Given the description of an element on the screen output the (x, y) to click on. 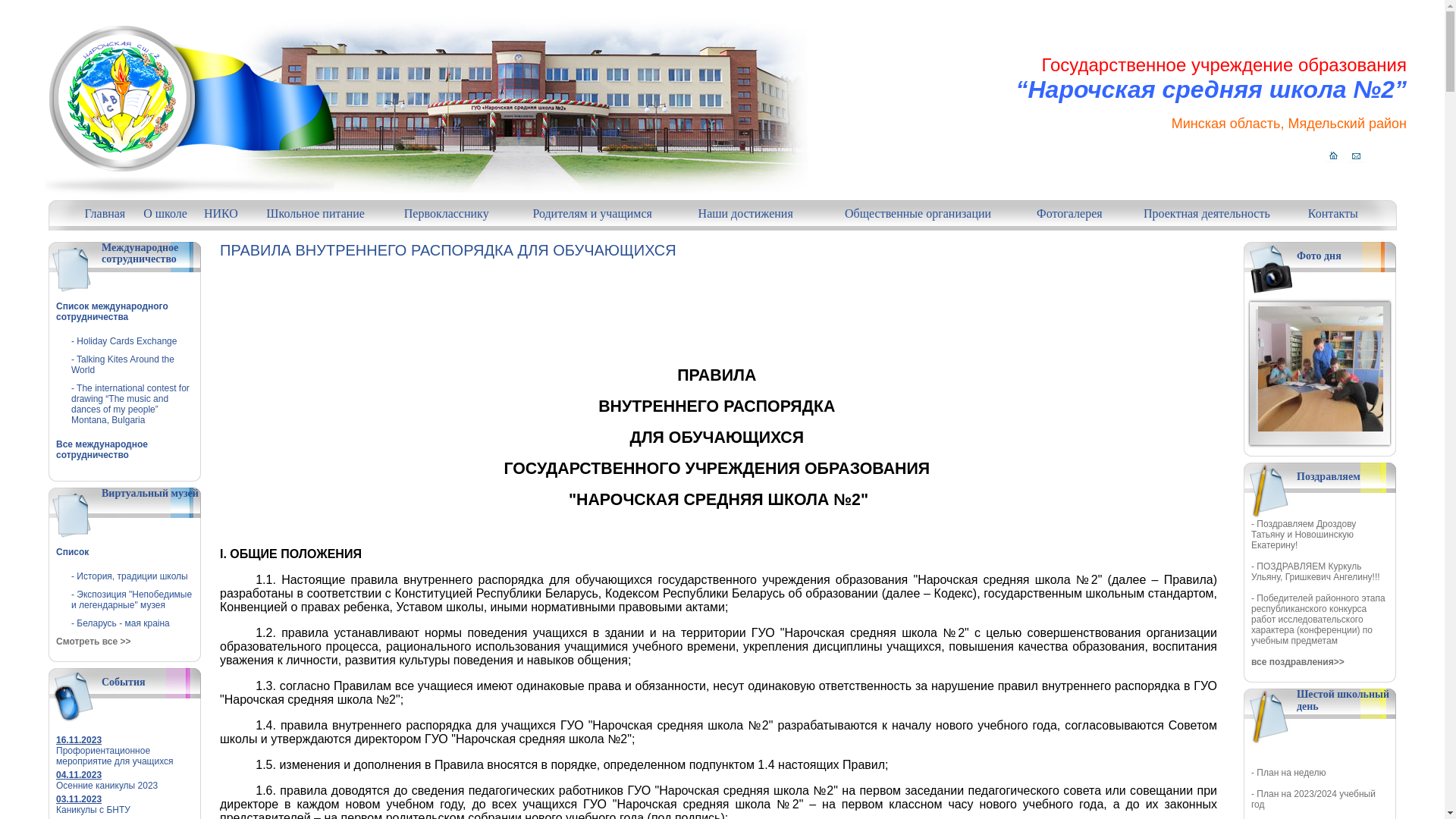
- Holiday Cards Exchange Element type: text (123, 340)
- Talking Kites Around the World Element type: text (122, 364)
